Given the description of an element on the screen output the (x, y) to click on. 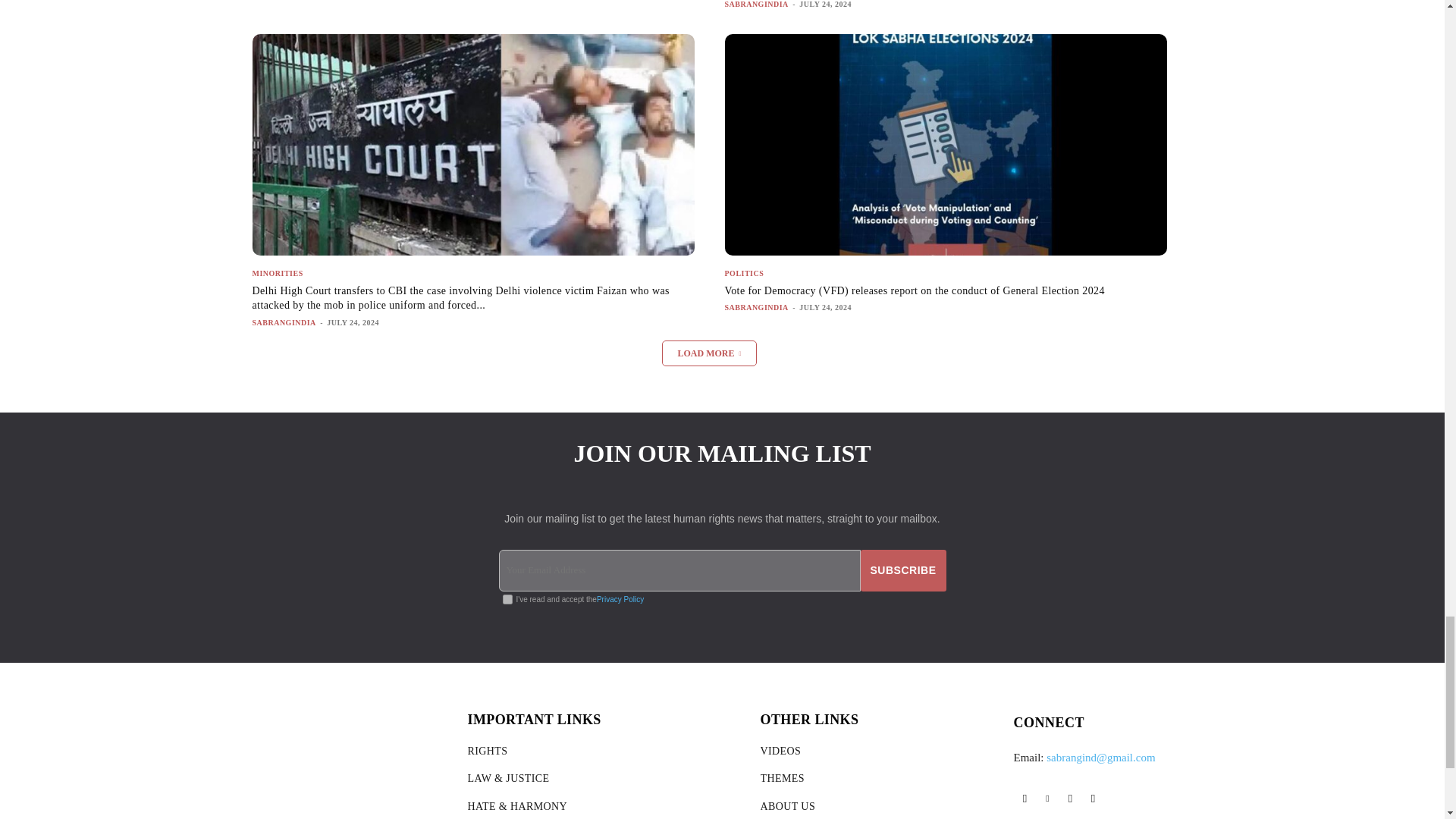
on (507, 599)
Subscribe (903, 570)
